Given the description of an element on the screen output the (x, y) to click on. 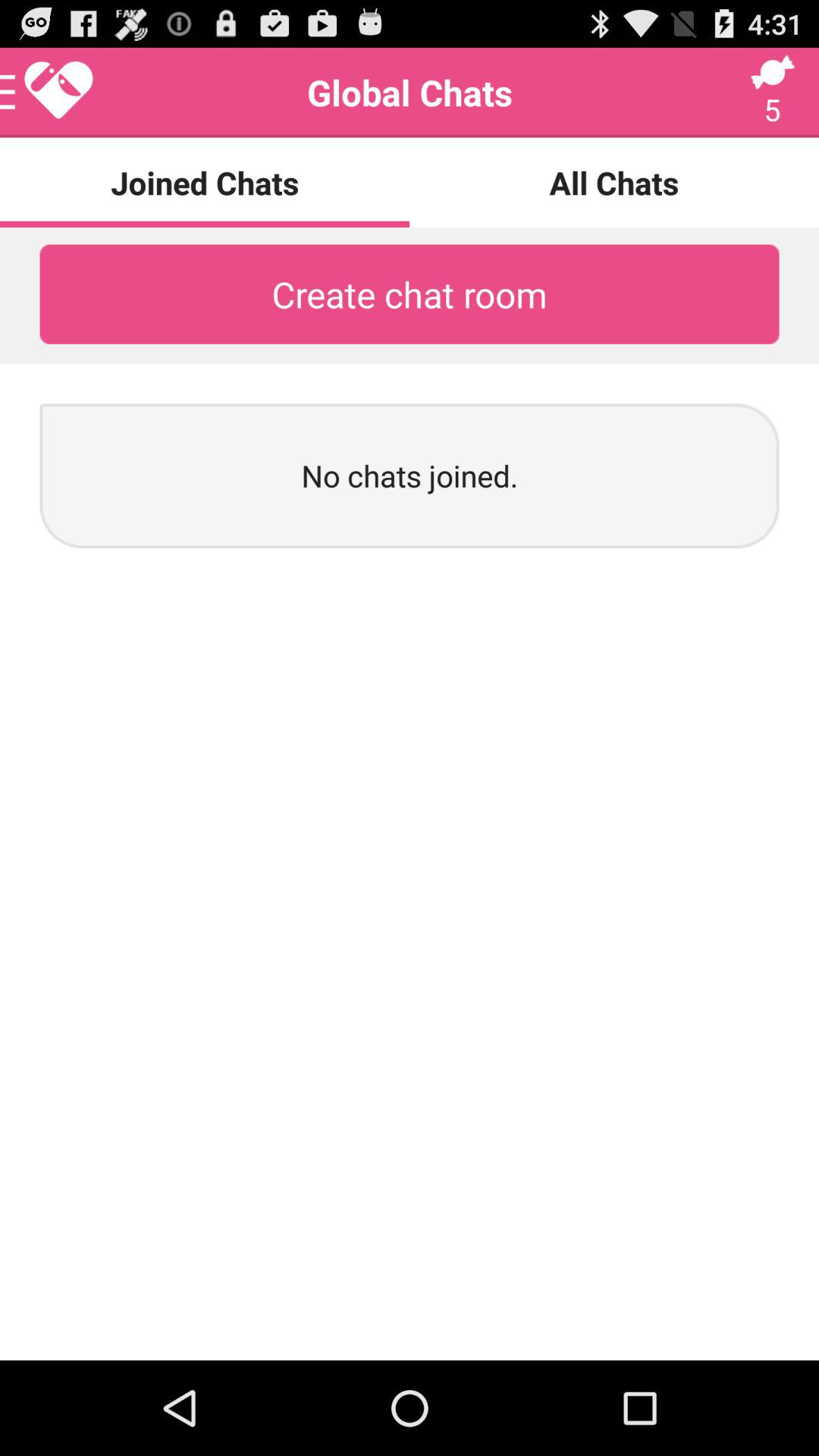
flip to the all chats (614, 182)
